Given the description of an element on the screen output the (x, y) to click on. 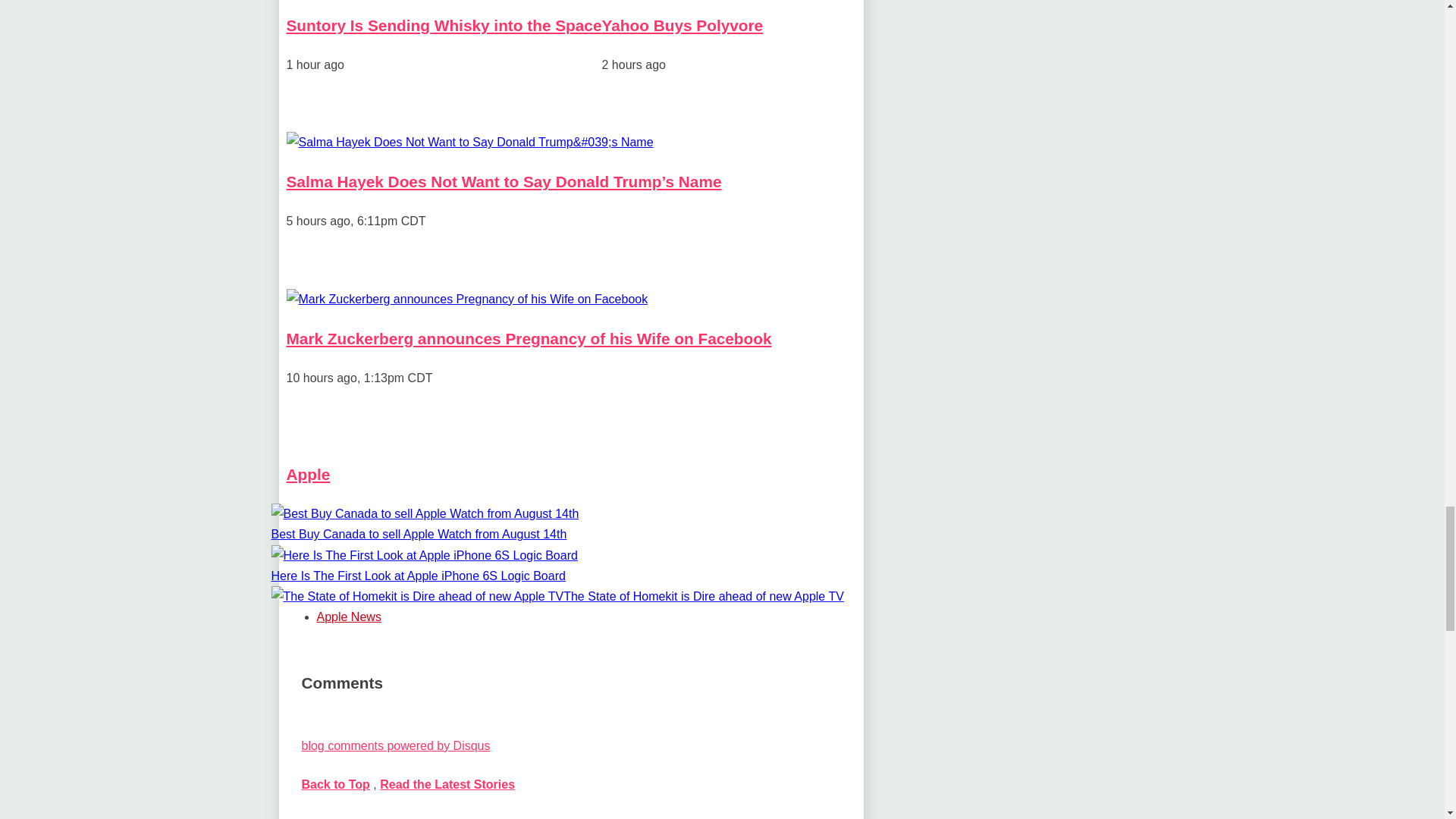
Mark Zuckerberg Facebook (466, 299)
Photo Credit: Getty Images (469, 141)
Suntory Is Sending Whisky into the Space (444, 25)
Yahoo Buys Polyvore (682, 25)
